Given the description of an element on the screen output the (x, y) to click on. 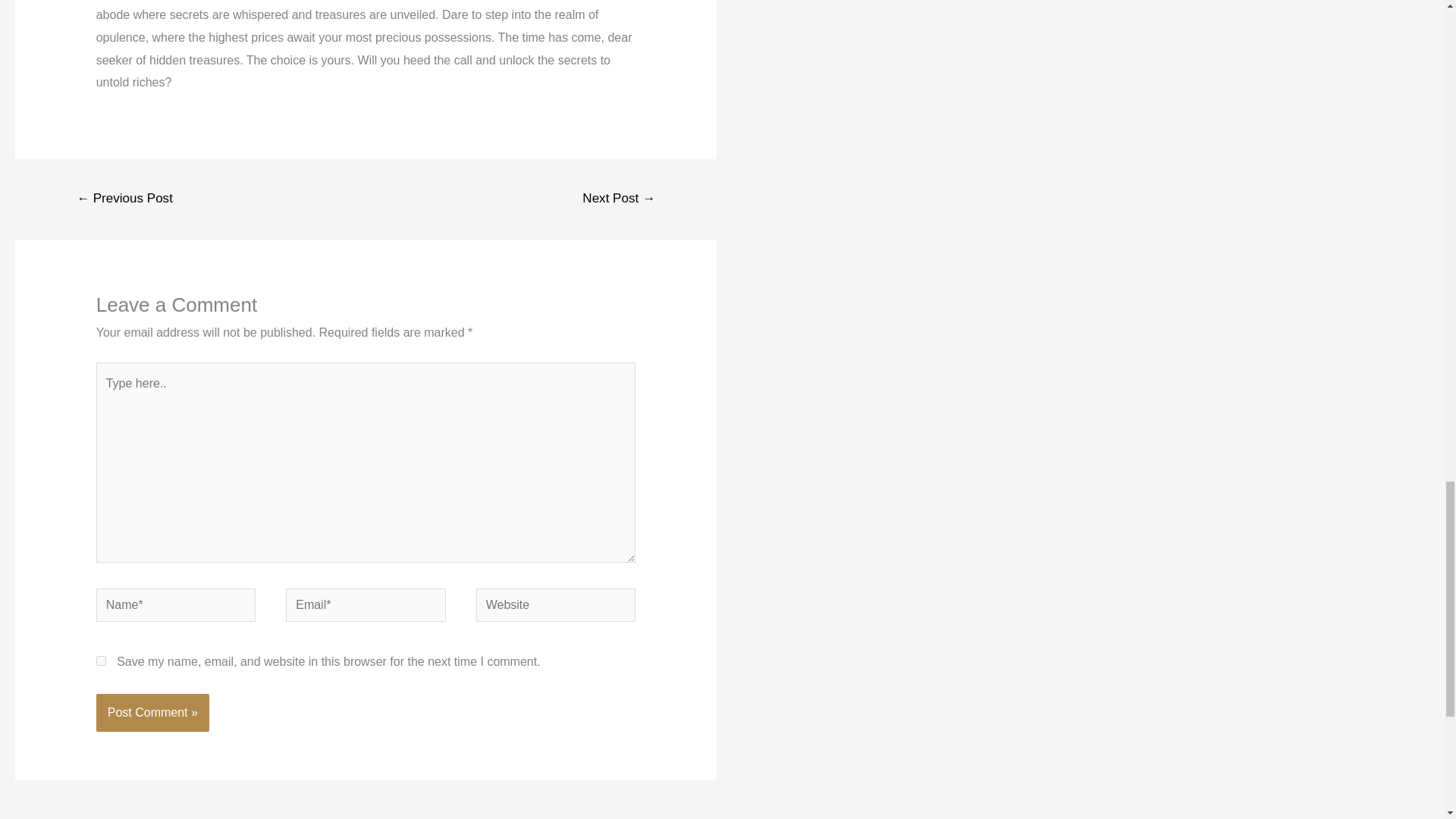
yes (101, 660)
